Given the description of an element on the screen output the (x, y) to click on. 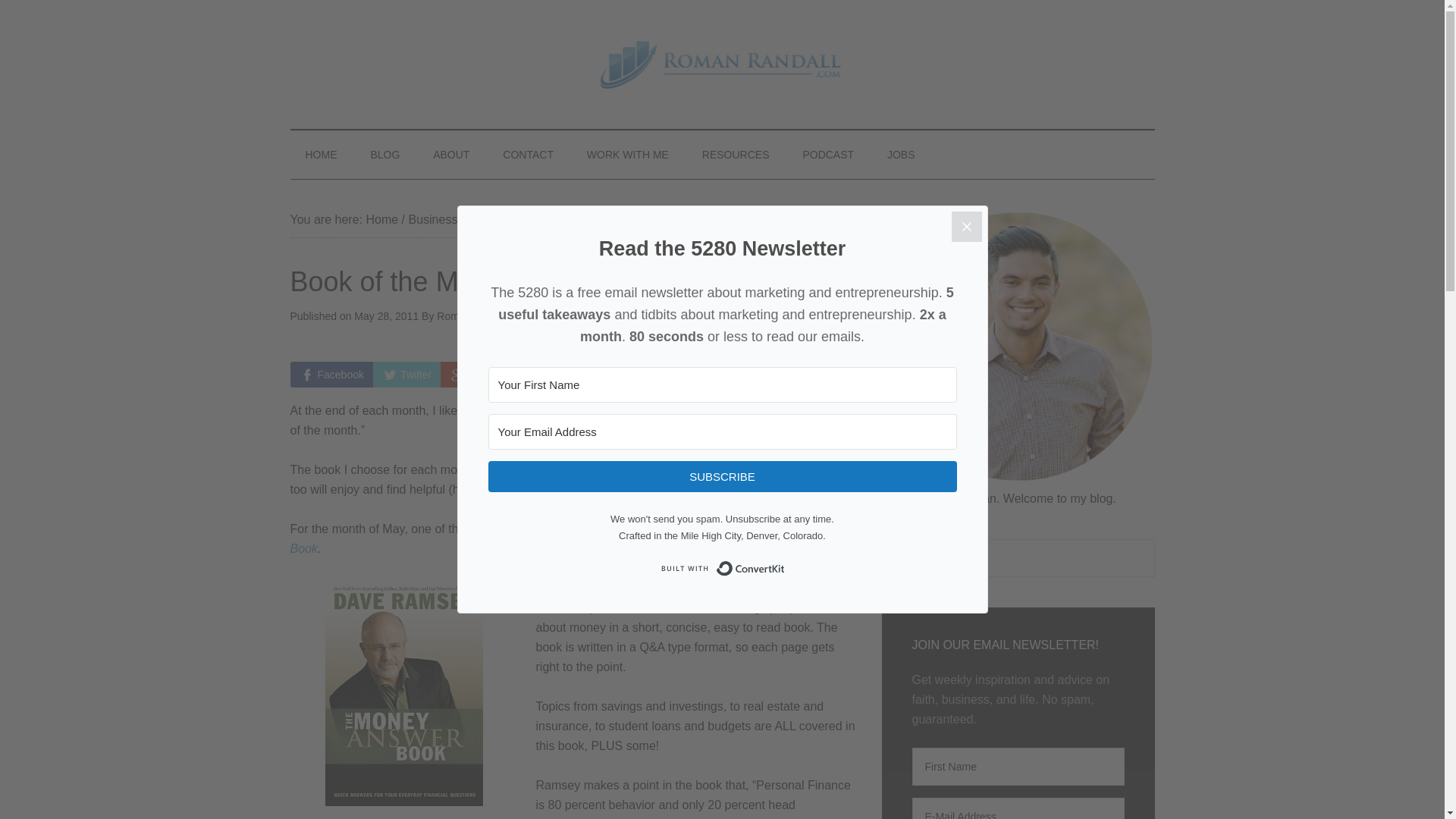
Twitter (406, 374)
Pinterest (556, 374)
Roman Randall (721, 64)
Roman Randall (473, 316)
Home (381, 219)
Buffer (704, 374)
Facebook (330, 374)
WORK WITH ME (628, 154)
Leave a Comment (725, 316)
JOBS (901, 154)
PODCAST (828, 154)
Business (432, 219)
LinkedIn (633, 374)
CONTACT (528, 154)
